Given the description of an element on the screen output the (x, y) to click on. 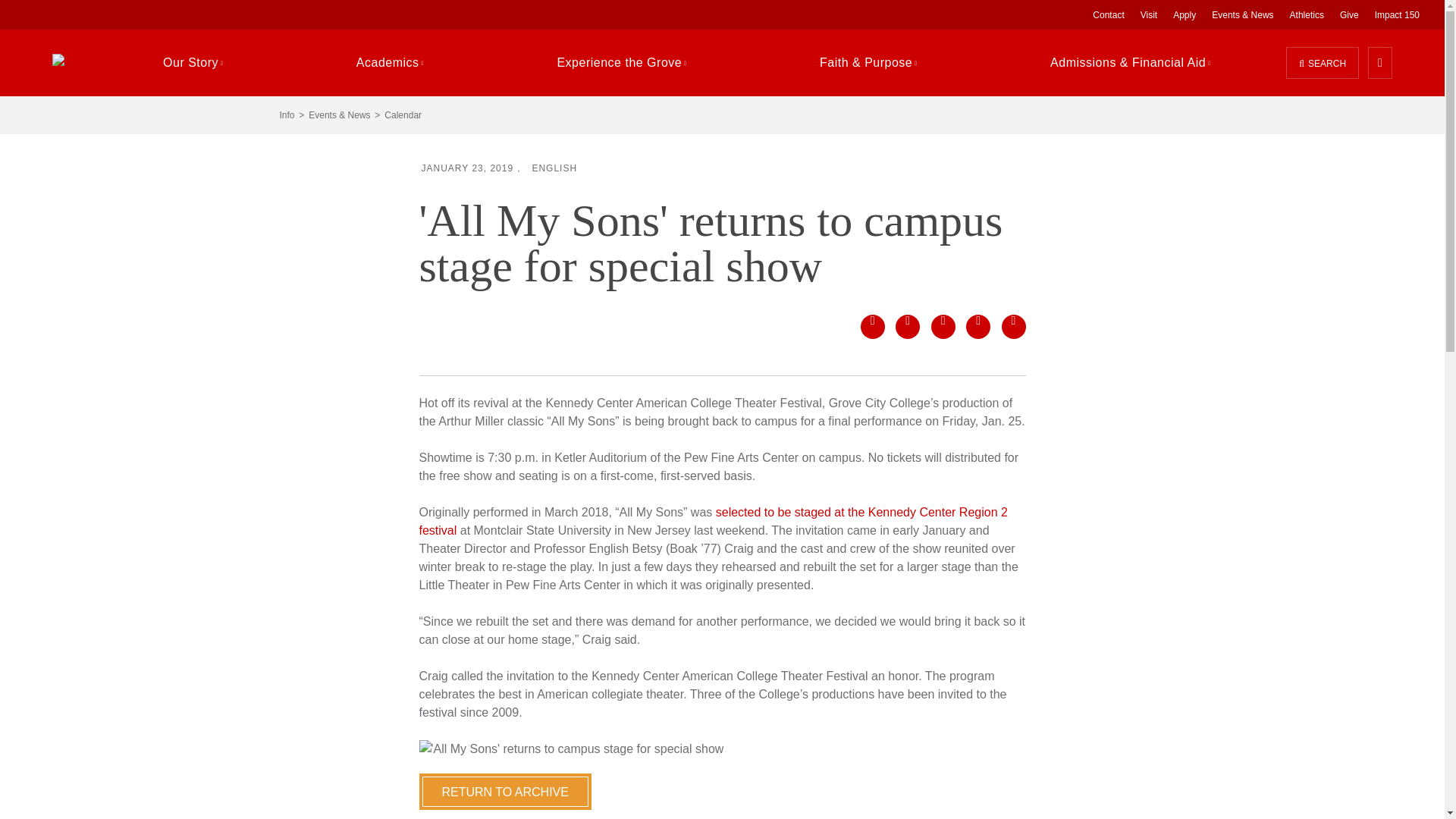
Contact (1108, 14)
Athletics (1306, 14)
Visit (1148, 14)
Impact 150 (1396, 14)
Our Story (192, 62)
Give (1349, 14)
Apply (1185, 14)
